Given the description of an element on the screen output the (x, y) to click on. 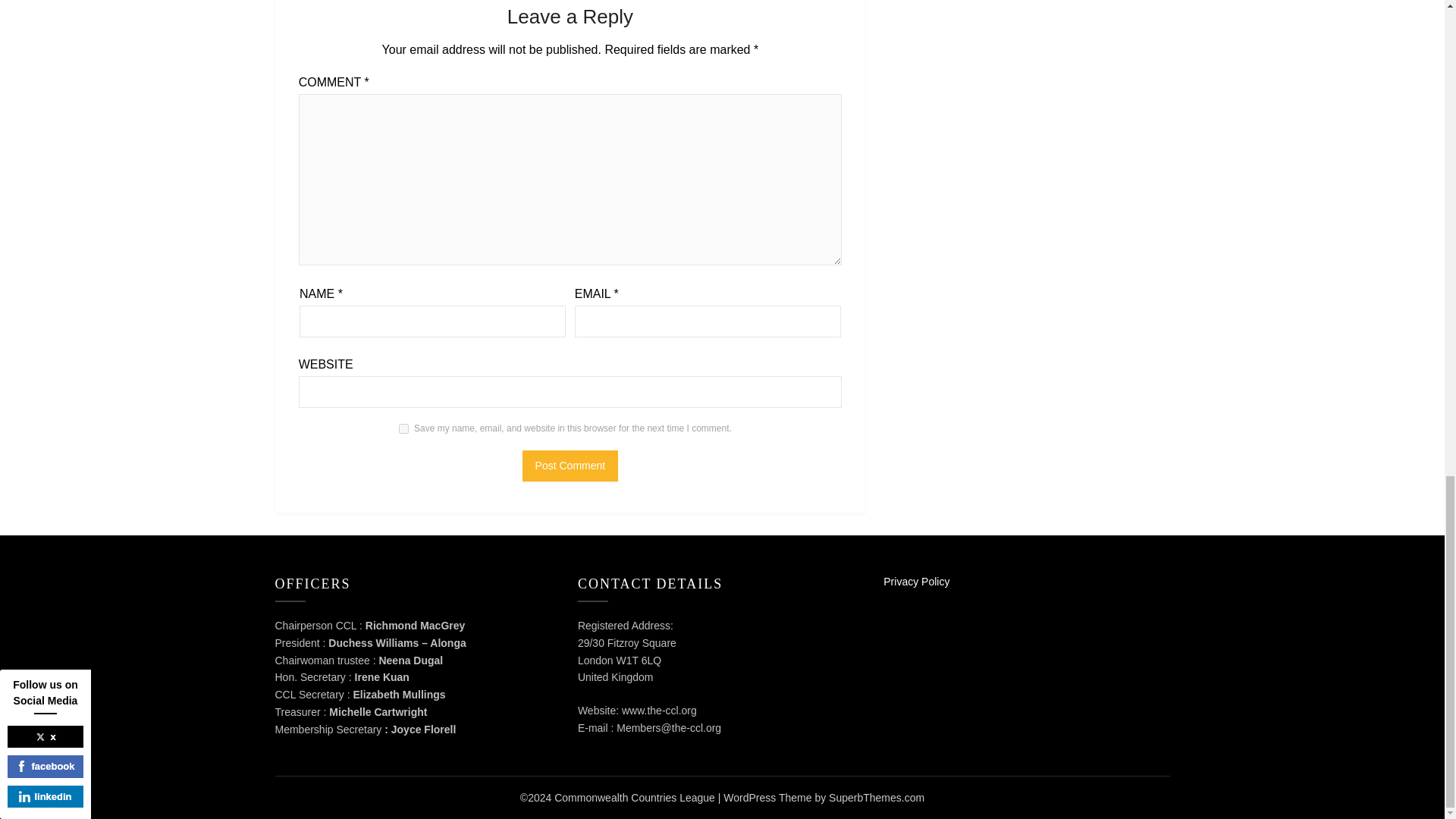
Post Comment (570, 465)
yes (403, 429)
Privacy Policy (916, 581)
SuperbThemes.com (876, 797)
Post Comment (570, 465)
